Given the description of an element on the screen output the (x, y) to click on. 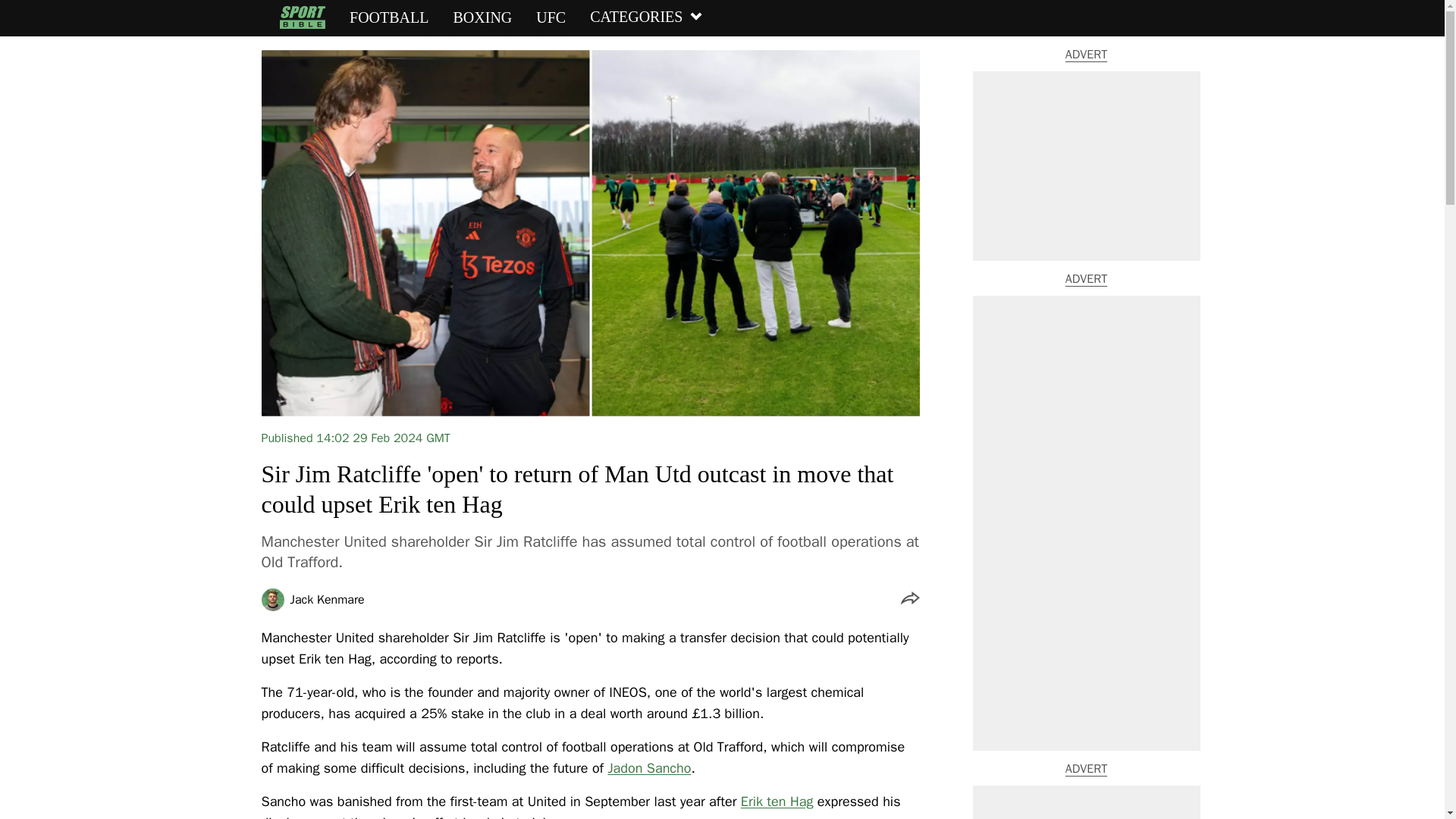
BOXING (482, 17)
FOOTBALL (388, 17)
